Given the description of an element on the screen output the (x, y) to click on. 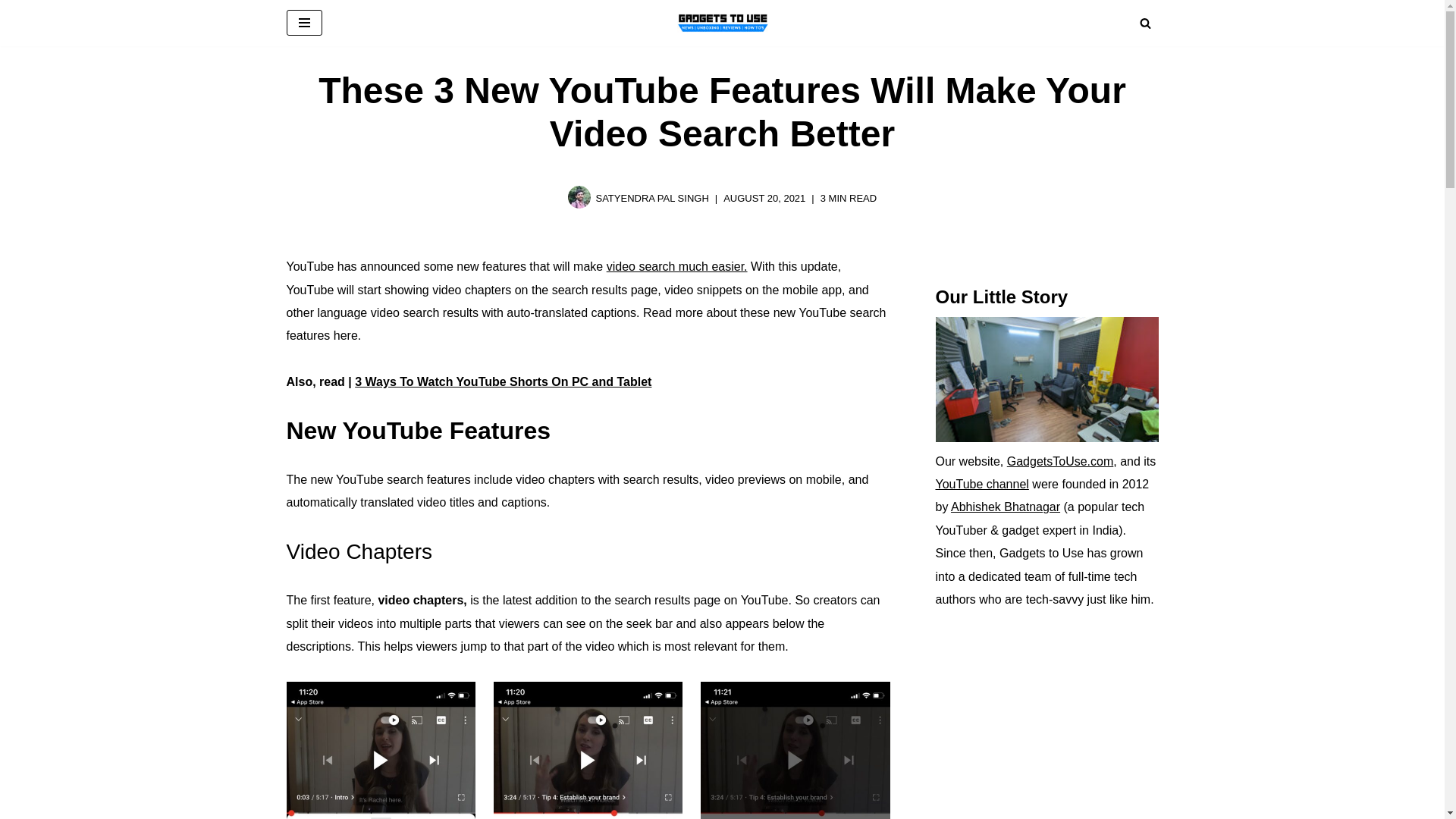
Skip to content (11, 31)
Navigation Menu (303, 22)
Posts by Satyendra Pal Singh (651, 197)
video search much easier. (677, 266)
3 Ways To Watch YouTube Shorts On PC and Tablet (502, 381)
SATYENDRA PAL SINGH (651, 197)
